Given the description of an element on the screen output the (x, y) to click on. 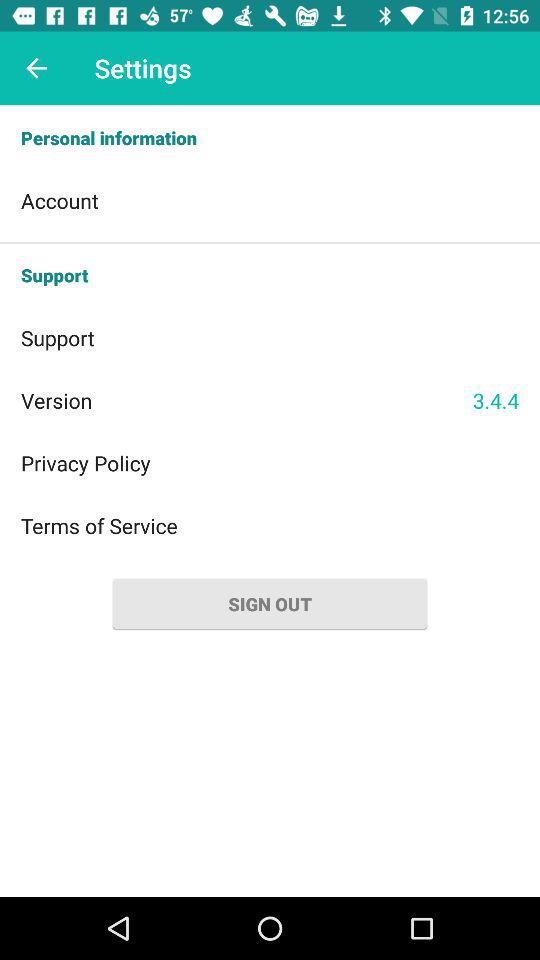
select item below support icon (495, 400)
